Given the description of an element on the screen output the (x, y) to click on. 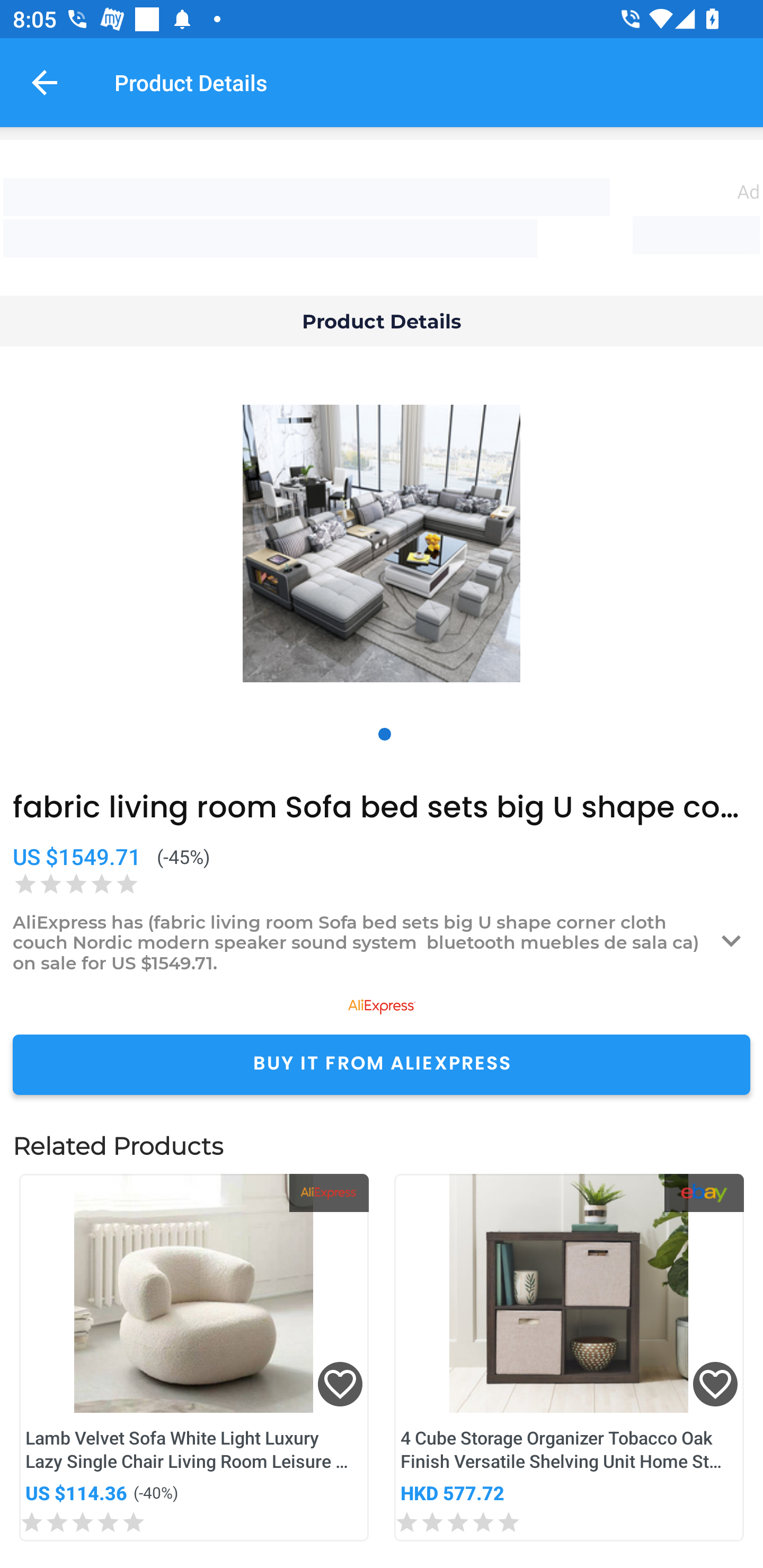
Navigate up (44, 82)
BUY IT FROM ALIEXPRESS (381, 1064)
